Given the description of an element on the screen output the (x, y) to click on. 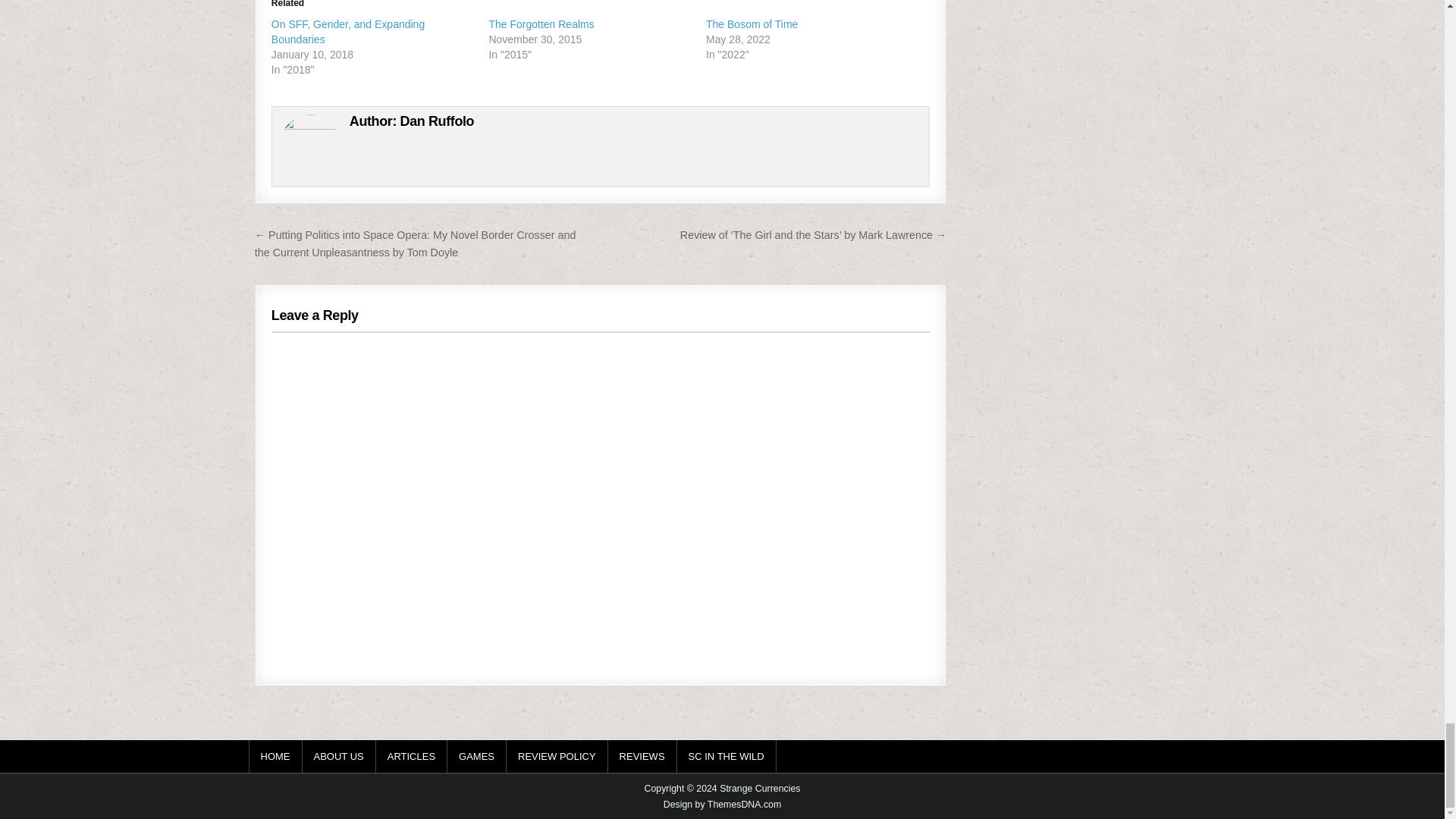
The Bosom of Time (751, 24)
On SFF, Gender, and Expanding Boundaries (347, 31)
The Forgotten Realms (540, 24)
On SFF, Gender, and Expanding Boundaries (347, 31)
The Forgotten Realms (540, 24)
The Bosom of Time (751, 24)
